Given the description of an element on the screen output the (x, y) to click on. 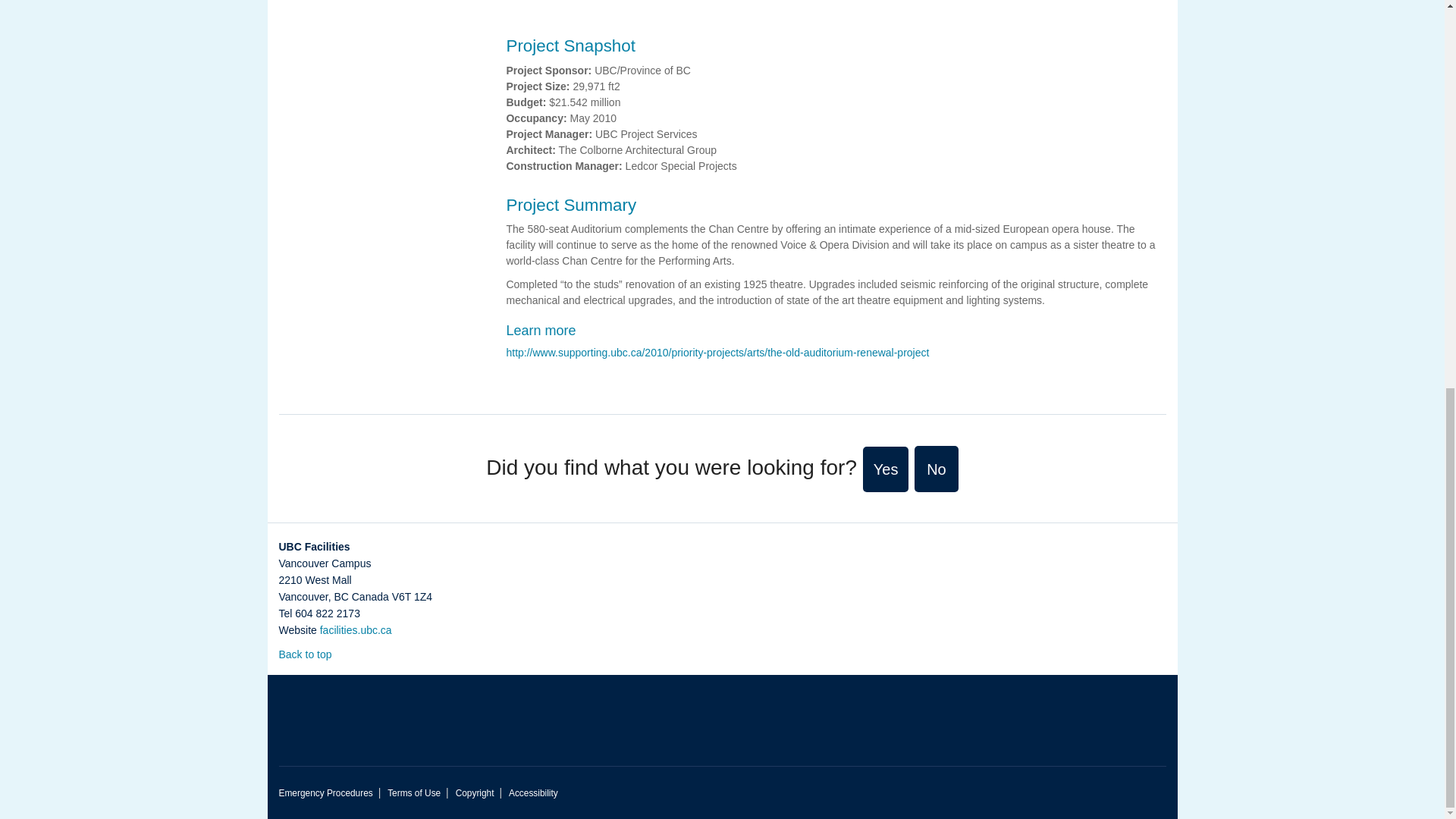
Emergency Procedures (325, 792)
Accessibility (532, 792)
UBC Copyright (475, 792)
Back to top (312, 654)
Terms of Use (414, 792)
